Given the description of an element on the screen output the (x, y) to click on. 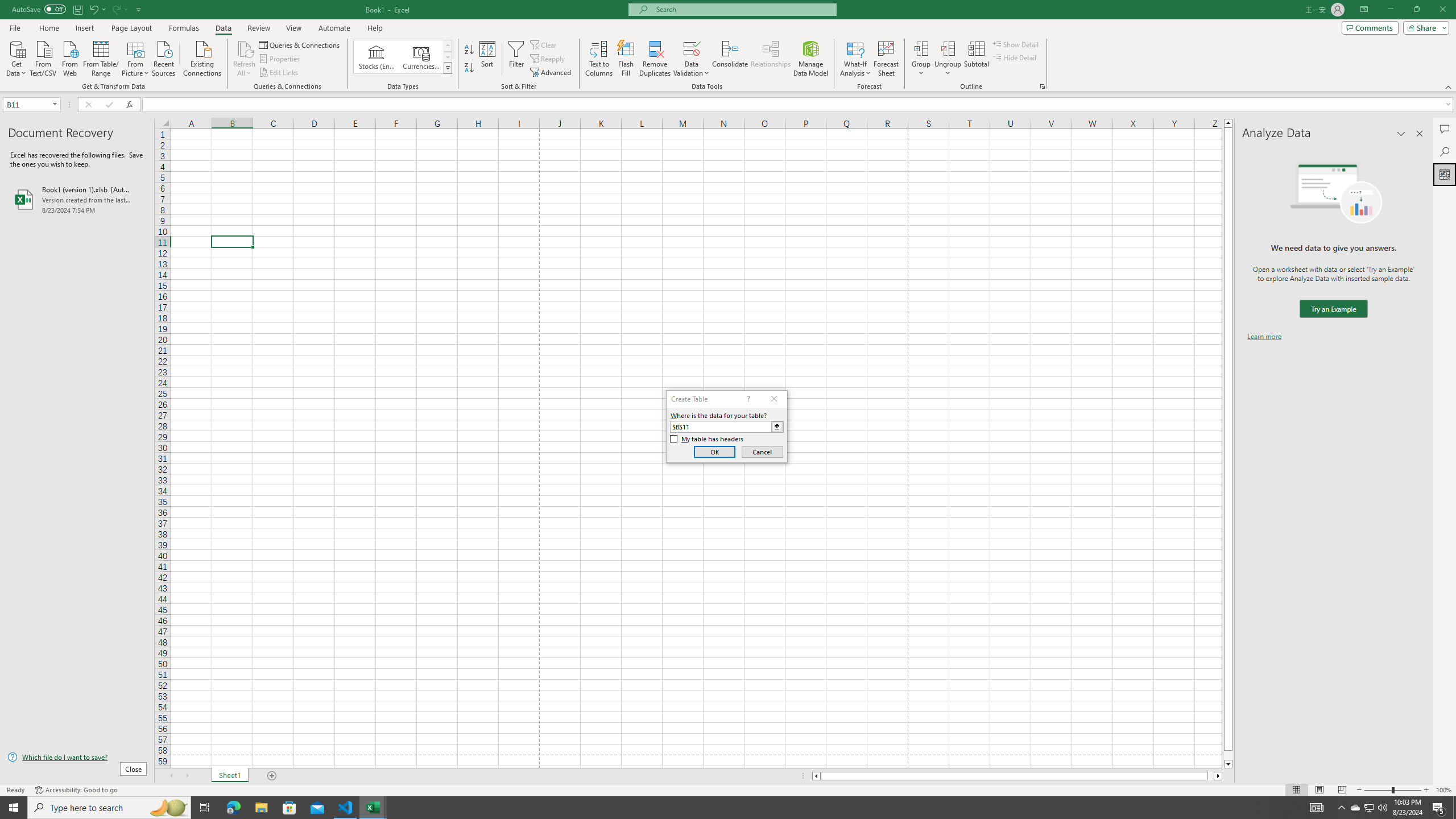
Class: NetUIScrollBar (1016, 775)
Data Validation... (691, 48)
Sort A to Z (469, 49)
Save (77, 9)
Search (1444, 151)
From Table/Range (100, 57)
Home (48, 28)
Reapply (548, 58)
Sort Z to A (469, 67)
Zoom (1392, 790)
Existing Connections (202, 57)
